Given the description of an element on the screen output the (x, y) to click on. 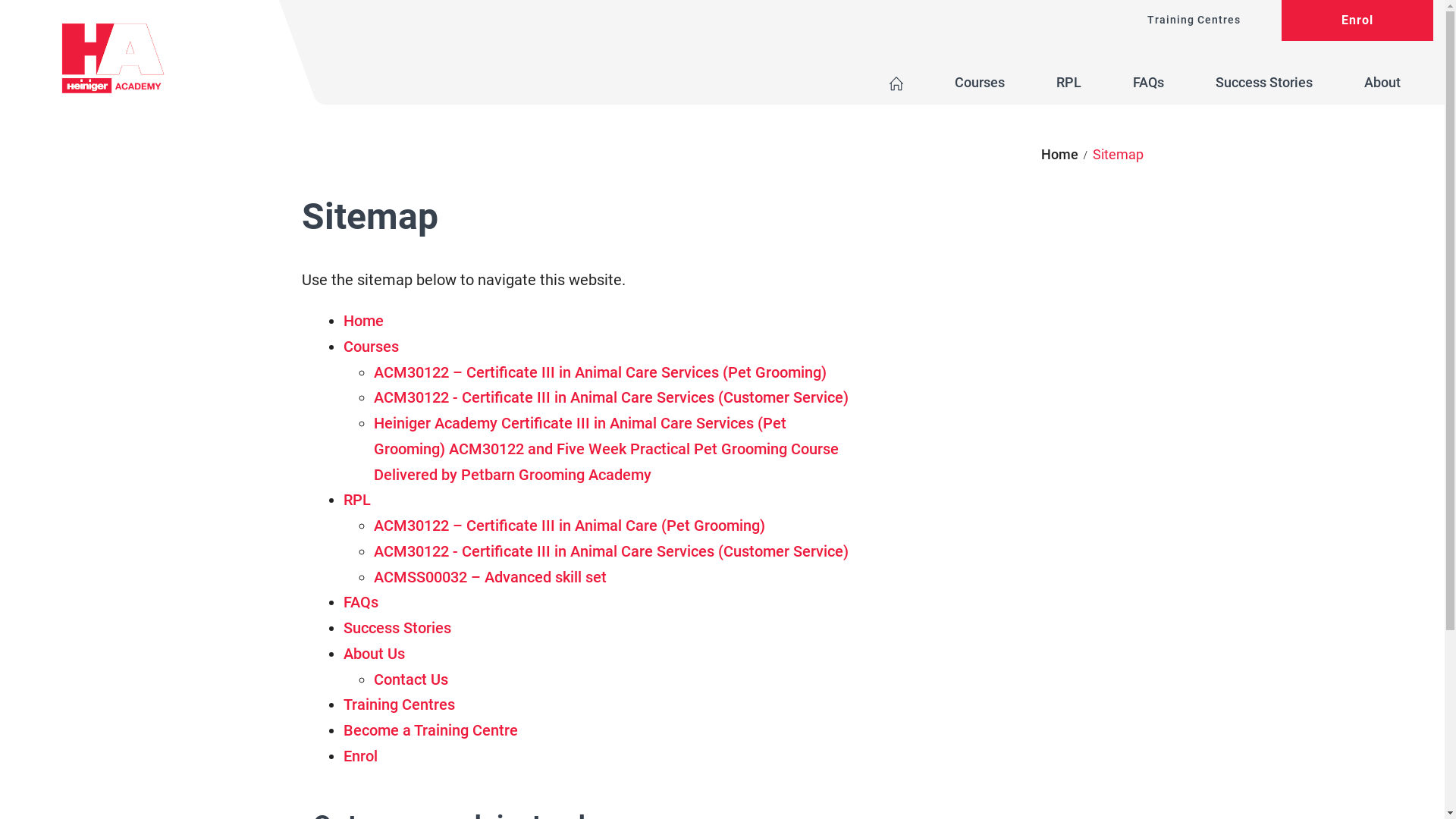
Enrol Element type: text (359, 755)
Training Centres Element type: text (1193, 20)
About Us Element type: text (373, 653)
FAQs Element type: text (359, 602)
Training Centres Element type: text (398, 704)
Success Stories Element type: text (1263, 83)
Home Element type: text (362, 320)
Enrol Element type: text (1357, 20)
FAQs Element type: text (1148, 83)
Become a Training Centre Element type: text (429, 730)
Success Stories Element type: text (396, 627)
Home Element type: text (1059, 154)
Contact Us Element type: text (410, 679)
About Element type: text (1385, 83)
RPL Element type: text (1068, 83)
RPL Element type: text (356, 499)
Courses Element type: text (370, 346)
Courses Element type: text (979, 83)
